Given the description of an element on the screen output the (x, y) to click on. 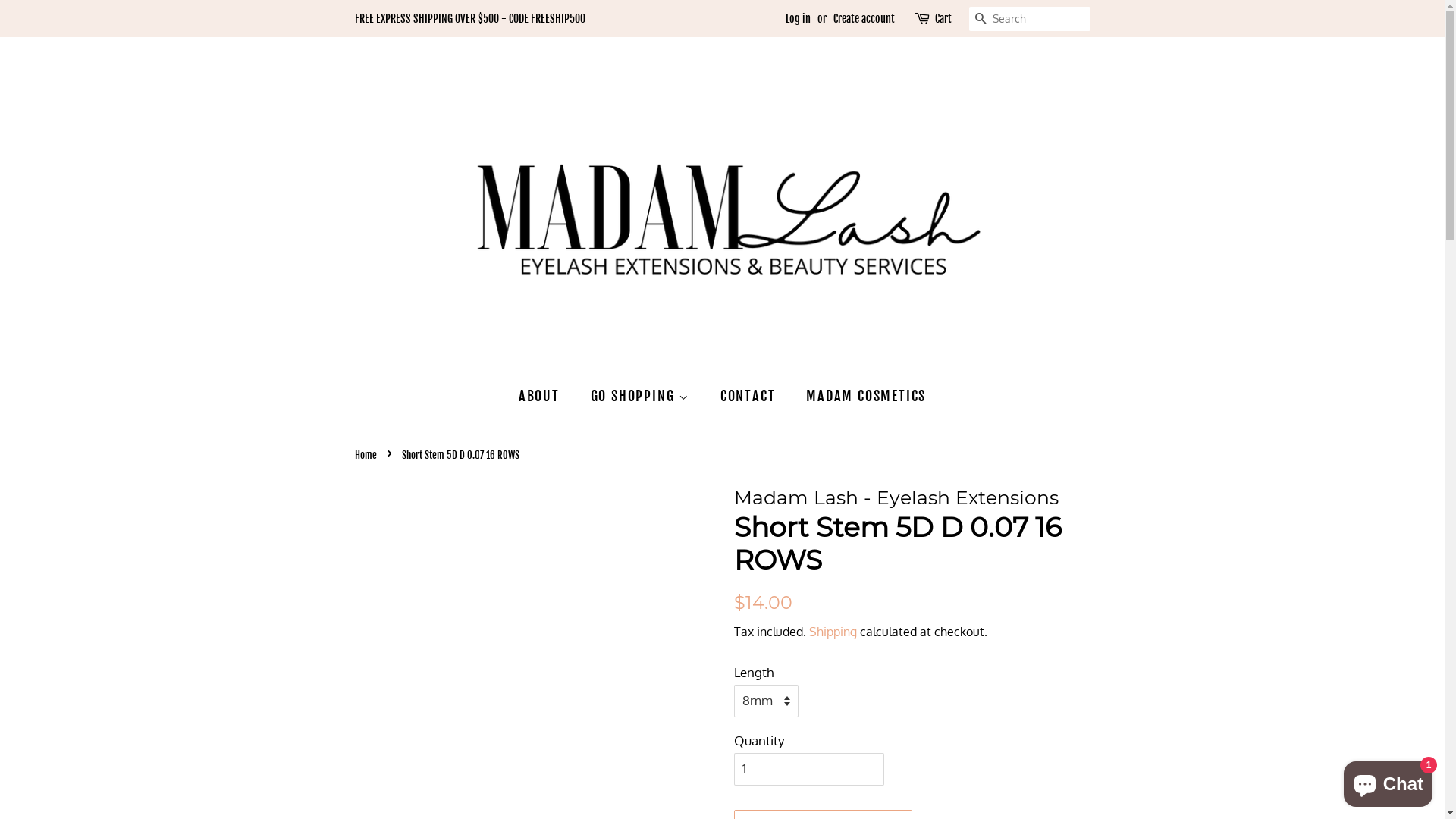
Cart Element type: text (942, 18)
MADAM COSMETICS Element type: text (859, 396)
ABOUT Element type: text (546, 396)
Shopify online store chat Element type: hover (1388, 780)
Search Element type: text (981, 18)
GO SHOPPING Element type: text (641, 396)
CONTACT Element type: text (749, 396)
Create account Element type: text (863, 18)
Log in Element type: text (797, 18)
Shipping Element type: text (832, 631)
Home Element type: text (367, 454)
